Given the description of an element on the screen output the (x, y) to click on. 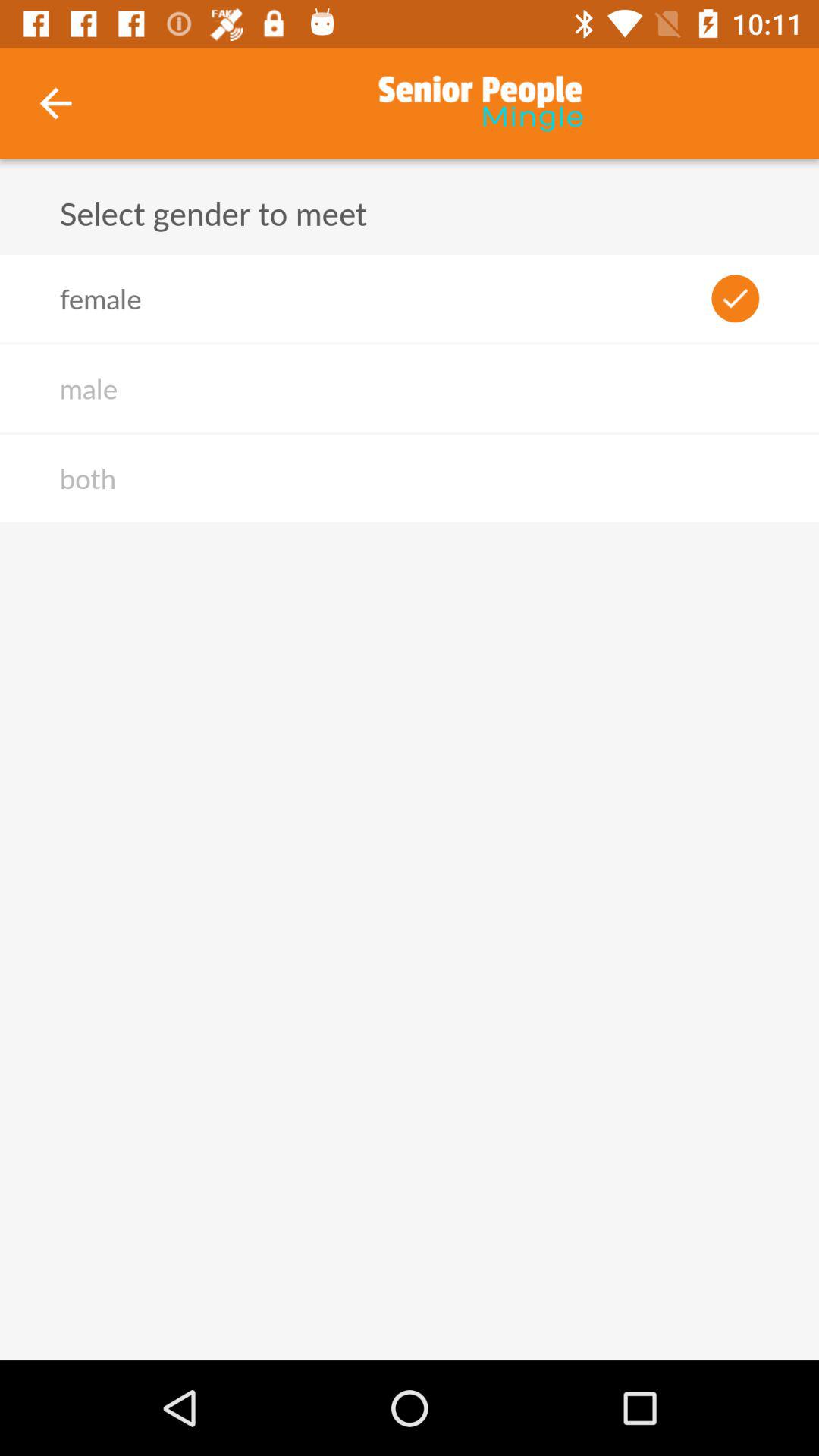
turn on both icon (87, 477)
